Given the description of an element on the screen output the (x, y) to click on. 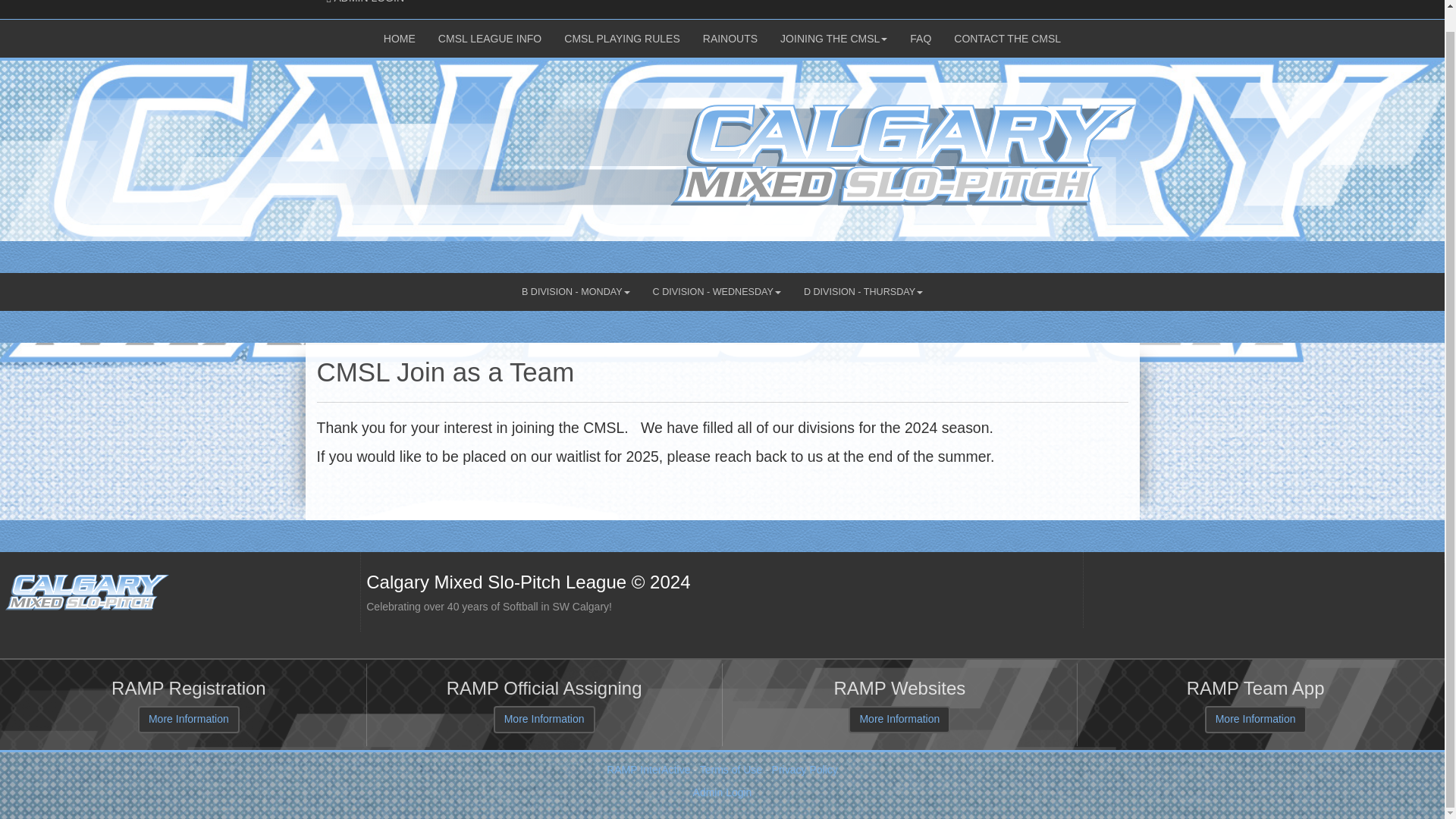
FAQ (365, 5)
CMSL PLAYING RULES (920, 38)
RAINOUTS (622, 38)
B DIVISION - MONDAY (729, 38)
JOINING THE CMSL (576, 291)
HOME (833, 38)
CMSL LEAGUE INFO (399, 38)
Login Page (489, 38)
C DIVISION - WEDNESDAY (1006, 38)
